Given the description of an element on the screen output the (x, y) to click on. 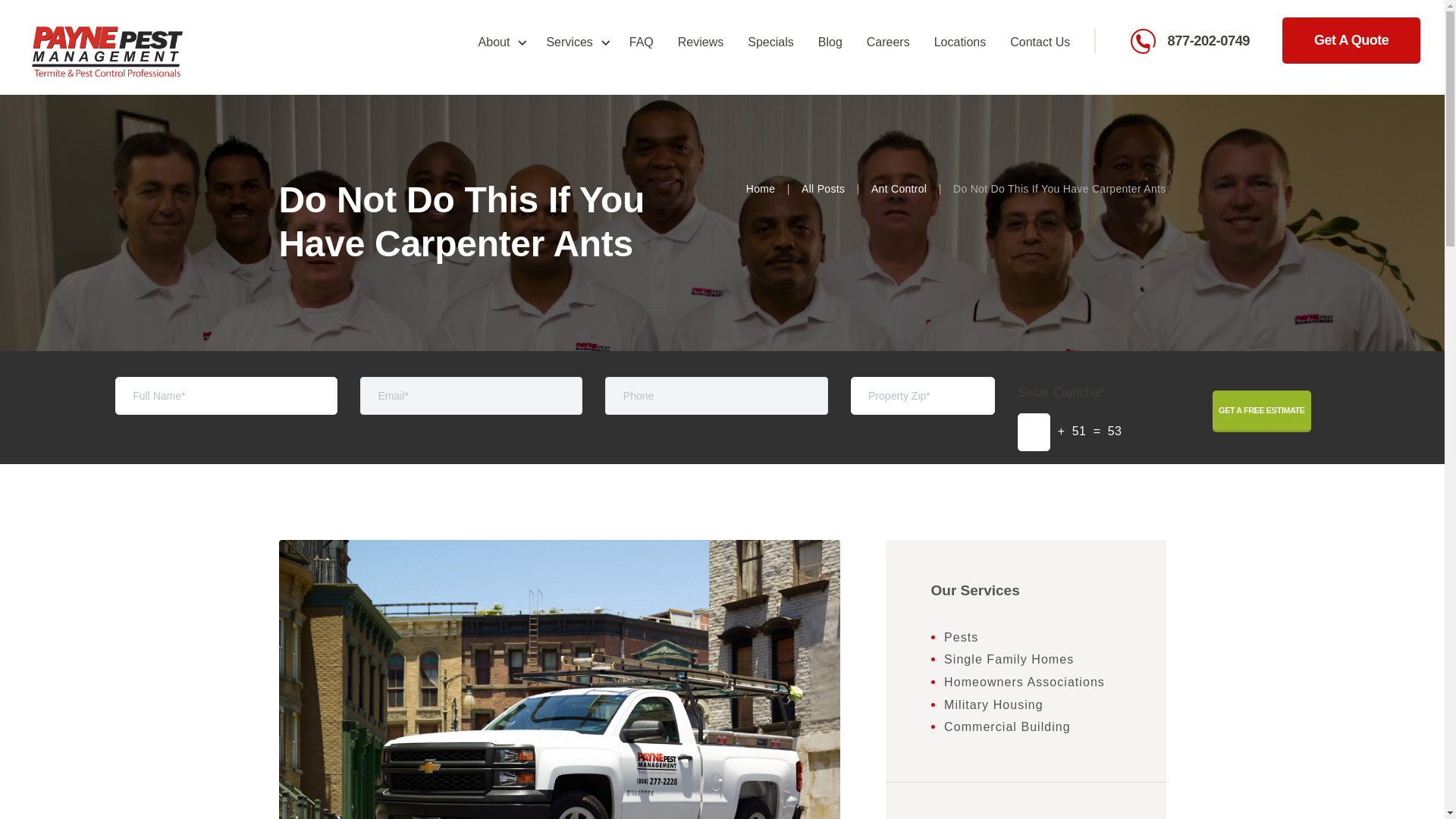
About (499, 42)
Home (107, 29)
877-202-0749 (1199, 40)
logo (107, 51)
Home (760, 188)
Reviews (700, 42)
Reviews (700, 42)
FAQ (641, 42)
877-202-0749 (1199, 40)
Specials (770, 42)
Careers (887, 42)
Get A Quote (1351, 40)
Ant Control (898, 188)
Services (574, 42)
Services (574, 42)
